Given the description of an element on the screen output the (x, y) to click on. 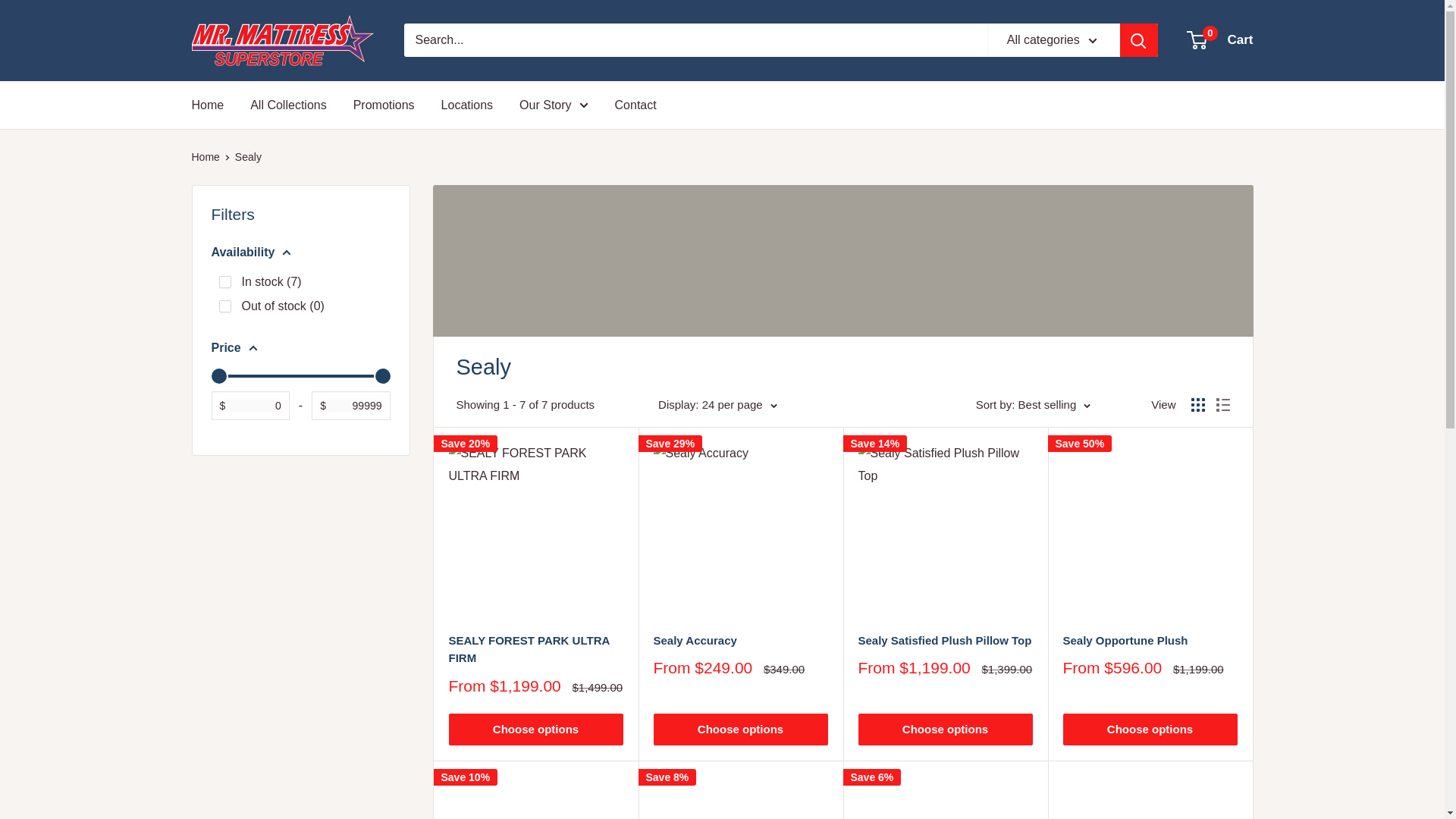
Sort by: Best selling (1032, 404)
Availability (300, 251)
Contact (635, 105)
All Collections (288, 105)
0 (300, 375)
Our Story (553, 105)
Price (300, 347)
Display: 24 per page (717, 404)
0 (224, 306)
Promotions (383, 105)
Home (204, 156)
Sealy (248, 156)
Locations (1220, 39)
Home (467, 105)
